Given the description of an element on the screen output the (x, y) to click on. 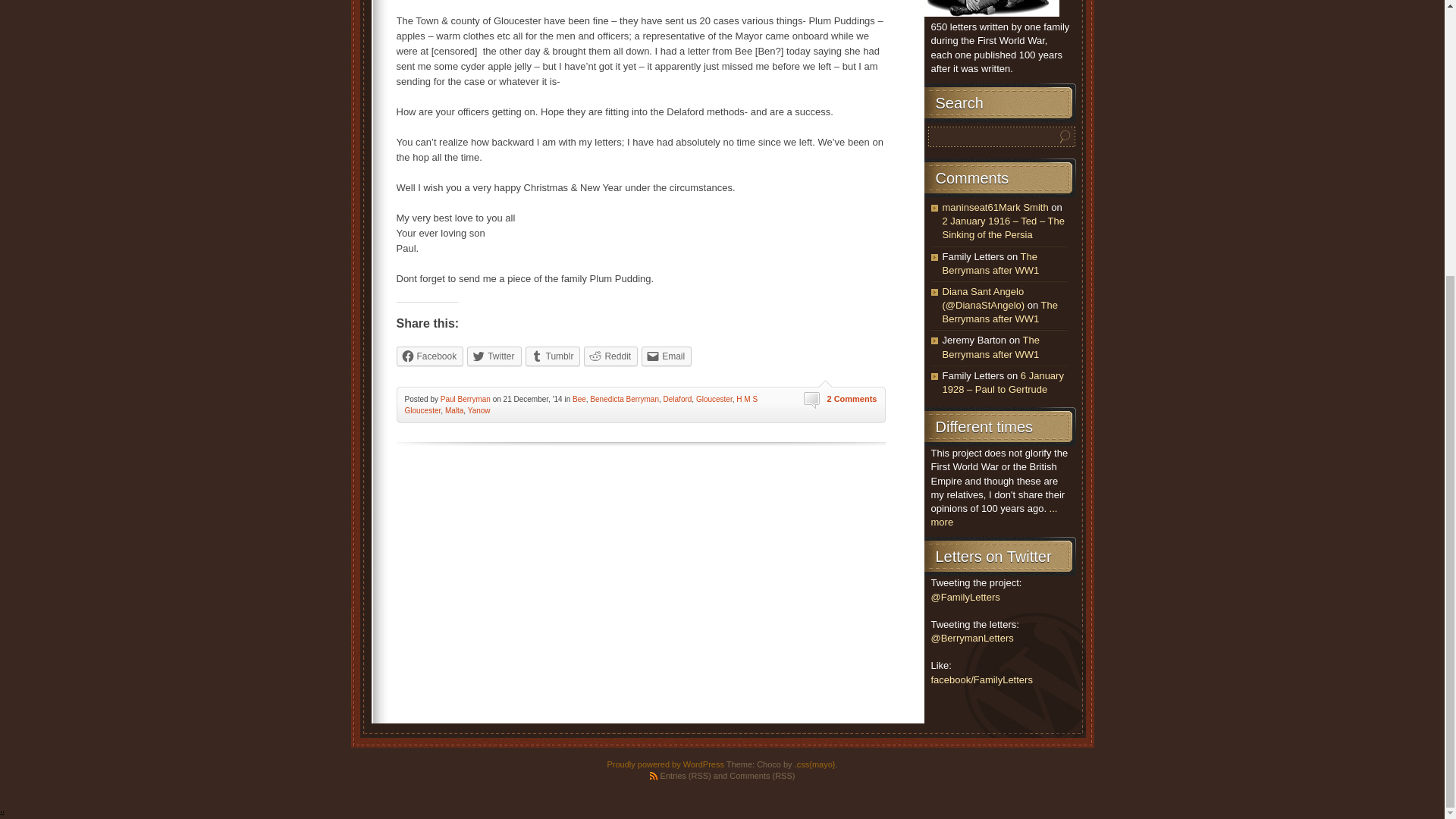
Posts by Paul Berryman (465, 398)
Click to share on Twitter (494, 356)
Click to email this to a friend (666, 356)
Click to share on Facebook (429, 356)
Click to share on Reddit (610, 356)
The Berryman Brothers (990, 8)
Search (1064, 136)
Click to share on Tumblr (552, 356)
